Given the description of an element on the screen output the (x, y) to click on. 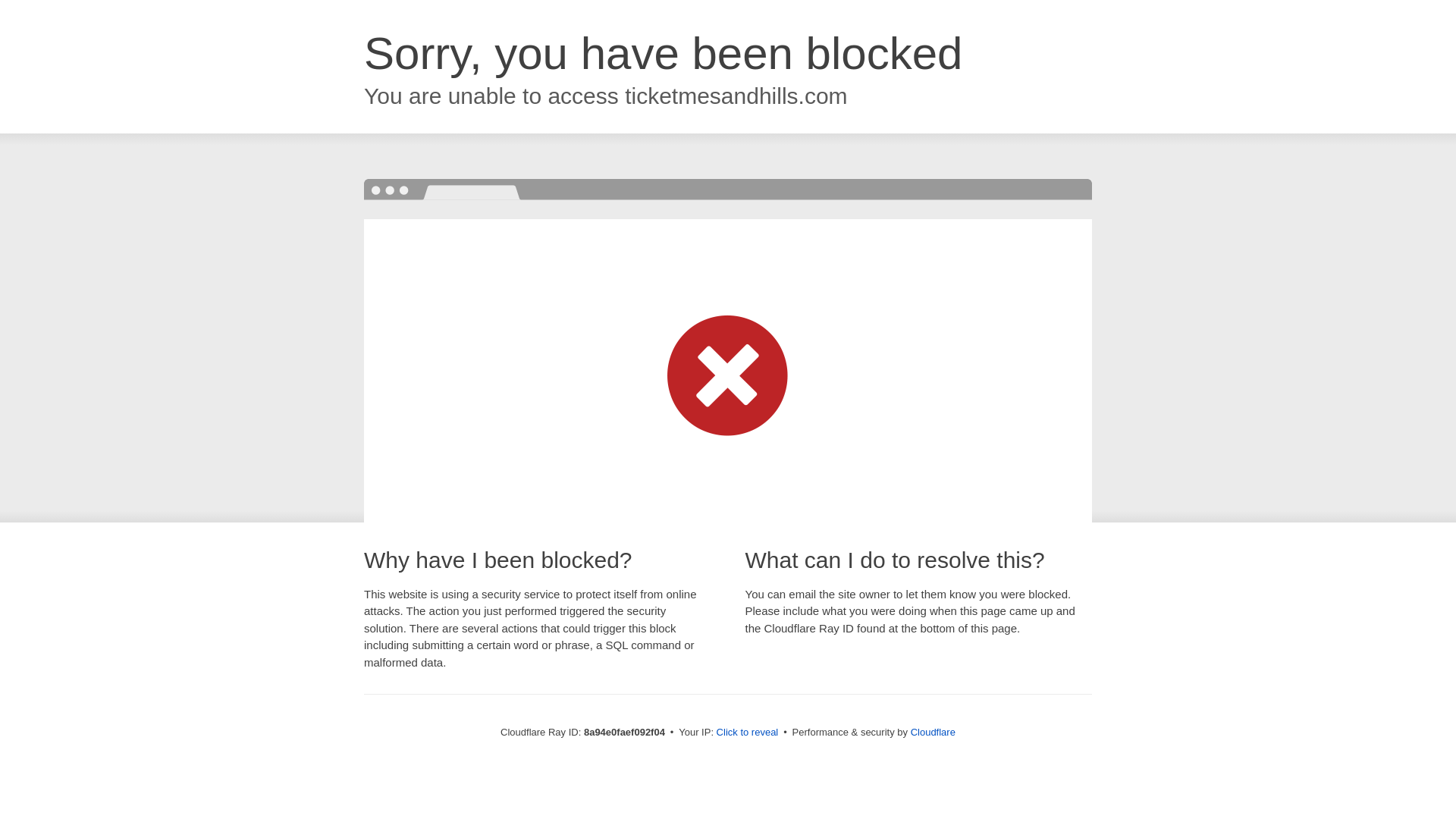
Click to reveal (747, 732)
Cloudflare (933, 731)
